Given the description of an element on the screen output the (x, y) to click on. 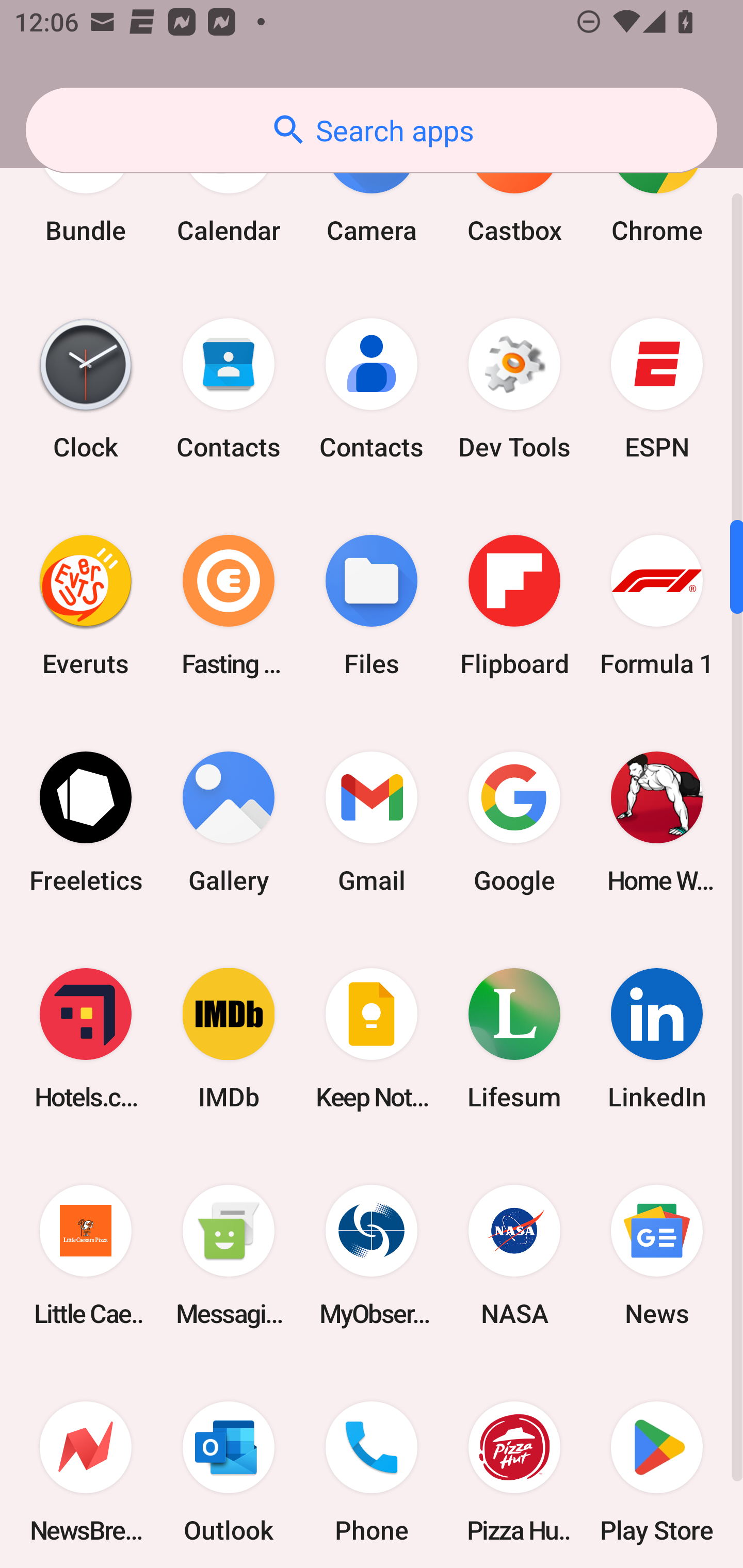
  Search apps (371, 130)
Clock (85, 388)
Contacts (228, 388)
Contacts (371, 388)
Dev Tools (514, 388)
ESPN (656, 388)
Everuts (85, 605)
Fasting Coach (228, 605)
Files (371, 605)
Flipboard (514, 605)
Formula 1 (656, 605)
Freeletics (85, 821)
Gallery (228, 821)
Gmail (371, 821)
Google (514, 821)
Home Workout (656, 821)
Hotels.com (85, 1038)
IMDb (228, 1038)
Keep Notes (371, 1038)
Lifesum (514, 1038)
LinkedIn (656, 1038)
Little Caesars Pizza (85, 1255)
Messaging (228, 1255)
MyObservatory (371, 1255)
NASA (514, 1255)
News (656, 1255)
NewsBreak (85, 1466)
Outlook (228, 1466)
Phone (371, 1466)
Pizza Hut HK & Macau (514, 1466)
Play Store (656, 1466)
